Given the description of an element on the screen output the (x, y) to click on. 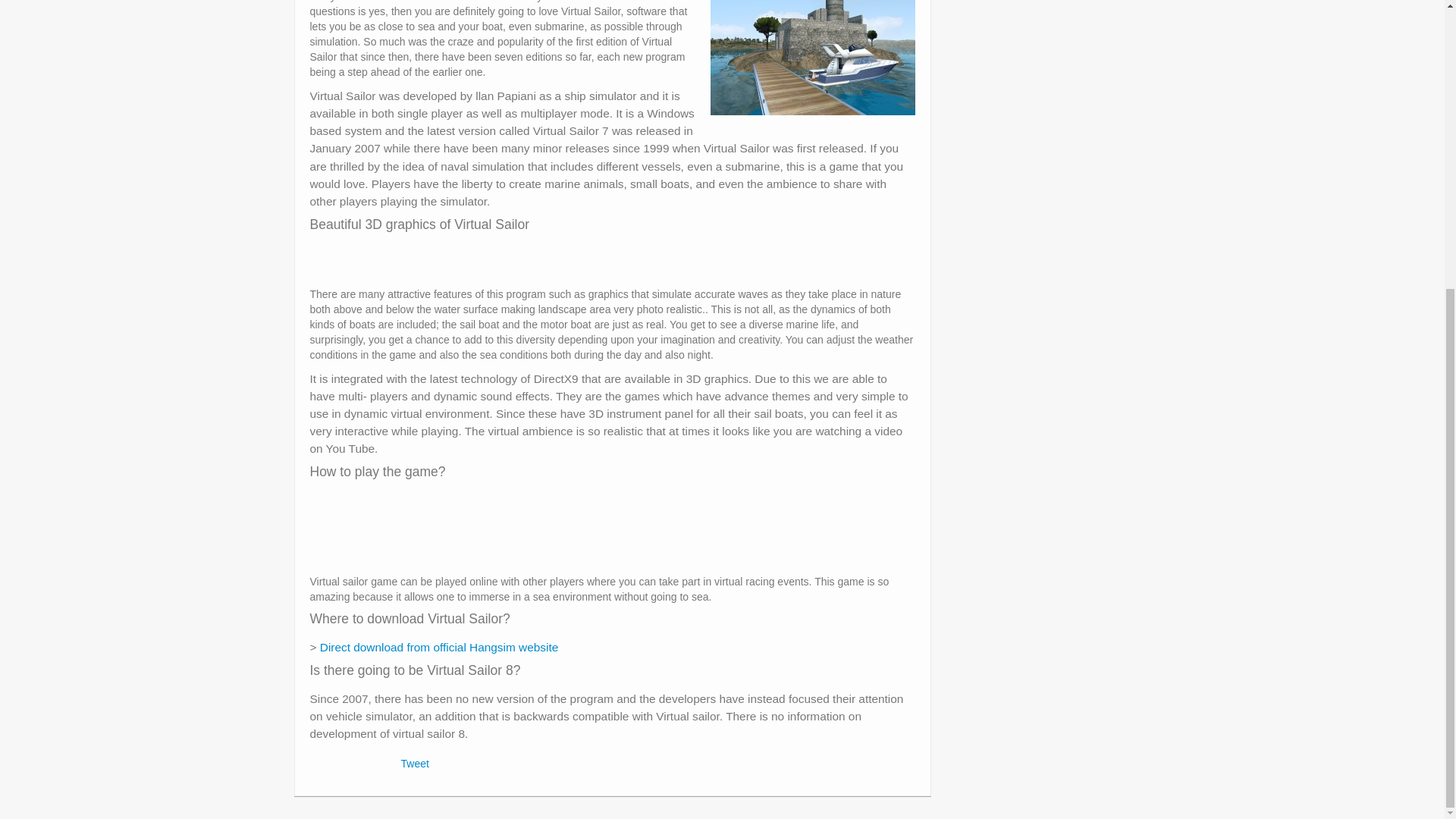
Direct download from official Hangsim website (439, 646)
virtual sailor game (812, 57)
Tweet (414, 763)
Direct Download (439, 646)
